Given the description of an element on the screen output the (x, y) to click on. 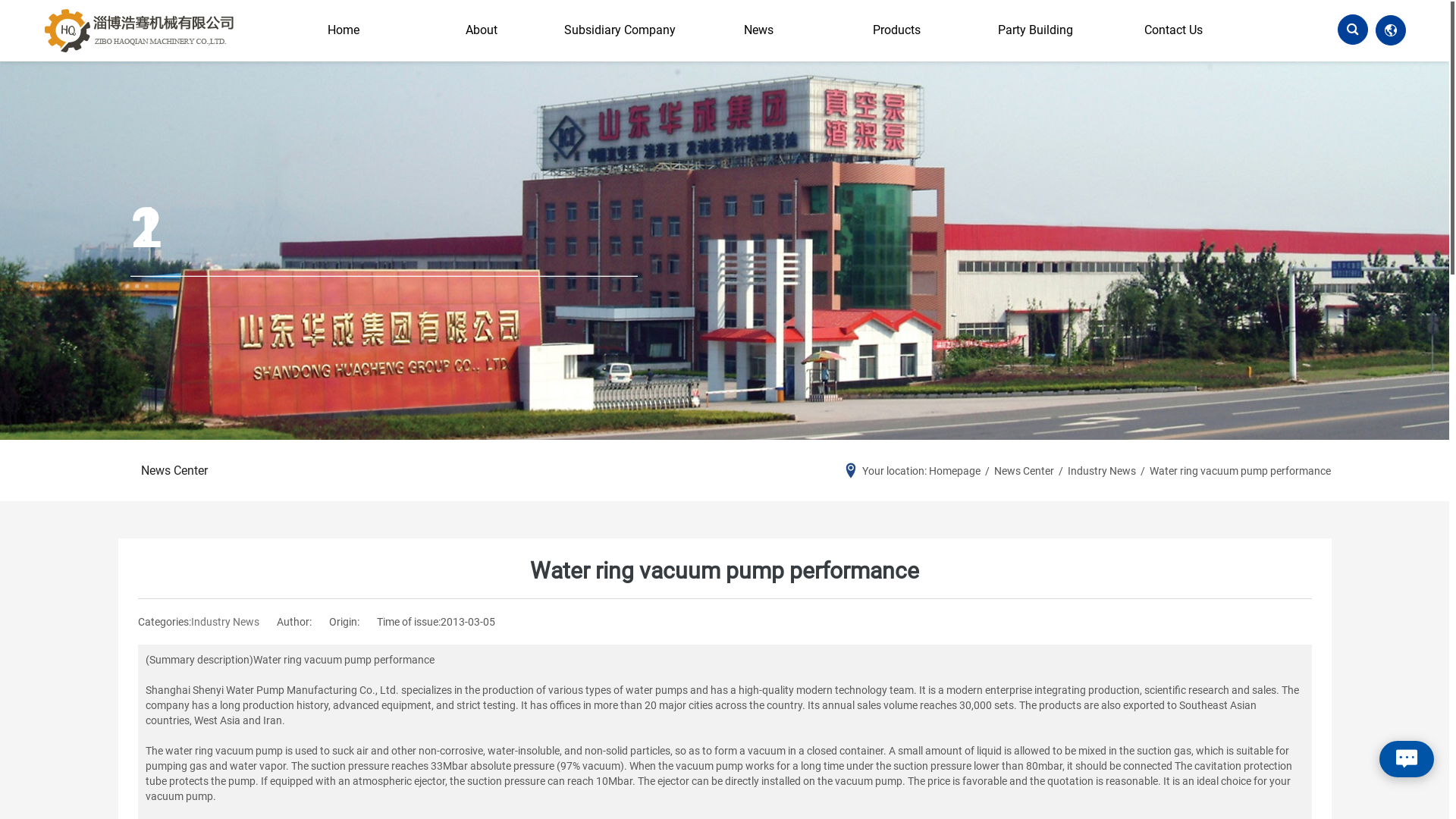
Products Element type: text (897, 30)
Homepage Element type: text (954, 470)
News Center Element type: text (174, 470)
About Element type: text (481, 30)
Contact Us Element type: text (1173, 30)
News Element type: text (758, 30)
Subsidiary Company Element type: text (620, 30)
Industry News Element type: text (225, 621)
Industry News Element type: text (1101, 470)
News Center Element type: text (1024, 470)
Home Element type: text (343, 30)
Party Building Element type: text (1035, 30)
